Given the description of an element on the screen output the (x, y) to click on. 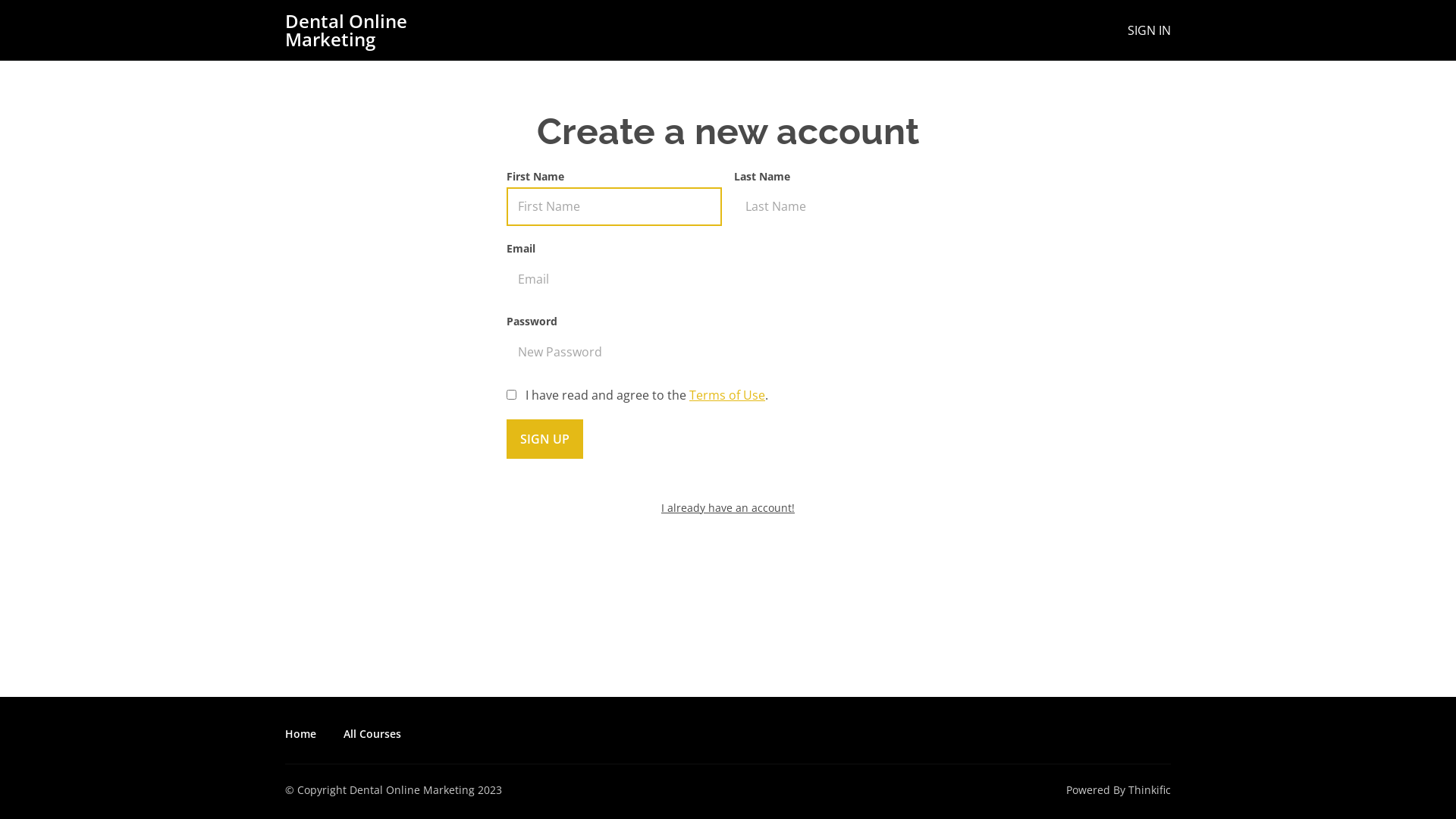
All Courses Element type: text (372, 733)
Dental Online Marketing Element type: text (371, 30)
SIGN IN Element type: text (1148, 29)
I already have an account! Element type: text (727, 507)
Sign up Element type: text (544, 438)
Home Element type: text (300, 733)
Powered By Thinkific Element type: text (1118, 789)
Terms of Use Element type: text (727, 394)
